Given the description of an element on the screen output the (x, y) to click on. 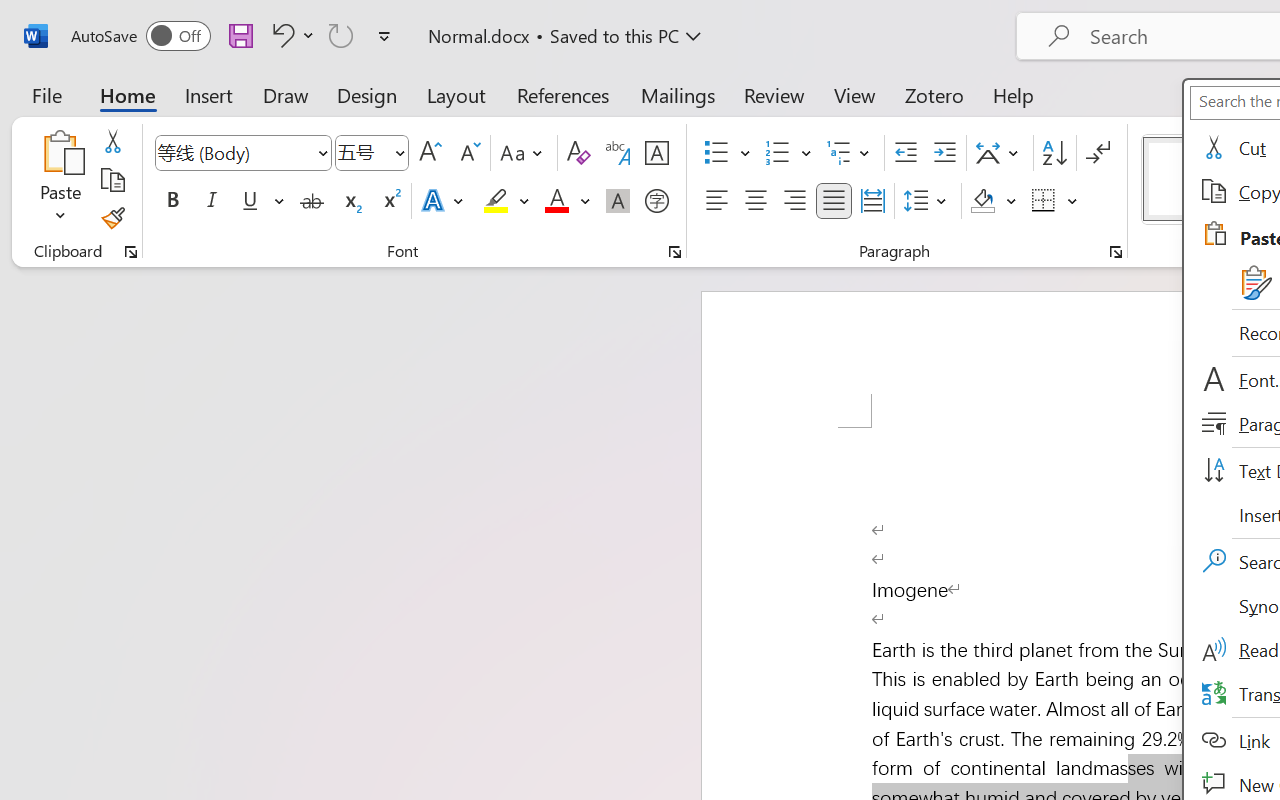
Bold (172, 201)
Cut (112, 141)
Show/Hide Editing Marks (1098, 153)
Copy (112, 179)
Change Case (524, 153)
